Given the description of an element on the screen output the (x, y) to click on. 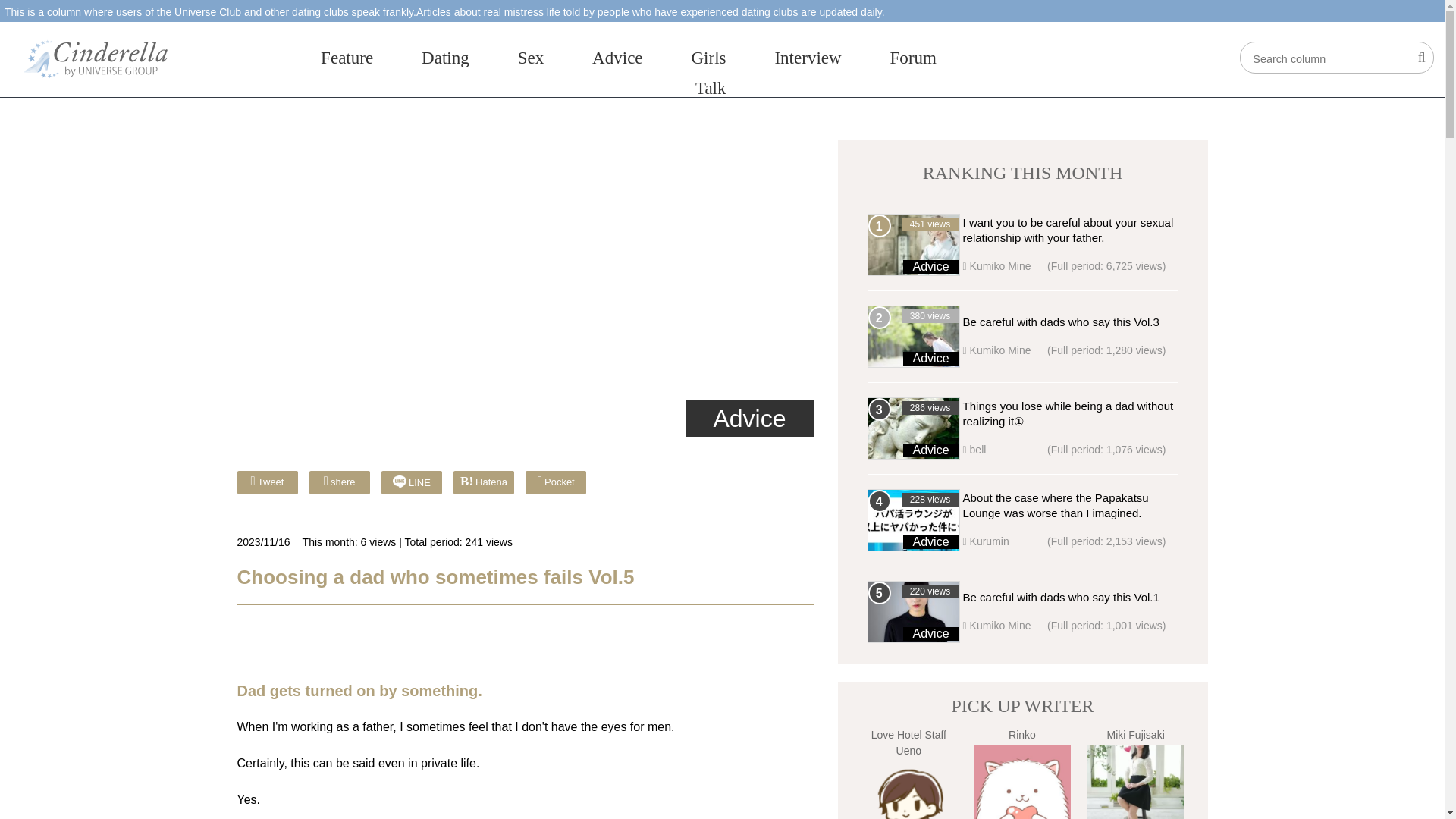
Love Hotel Staff Ueno (908, 790)
Feature (346, 57)
Be careful with dads who say this Vol.1 (1060, 596)
LINE (411, 478)
Hatena (482, 480)
Advice (749, 418)
Advice (930, 266)
Girls Talk (707, 72)
Interview (807, 57)
Dating (445, 57)
Sex (531, 57)
Advice (617, 57)
Miki Fujisaki (1136, 782)
shere (338, 480)
